Given the description of an element on the screen output the (x, y) to click on. 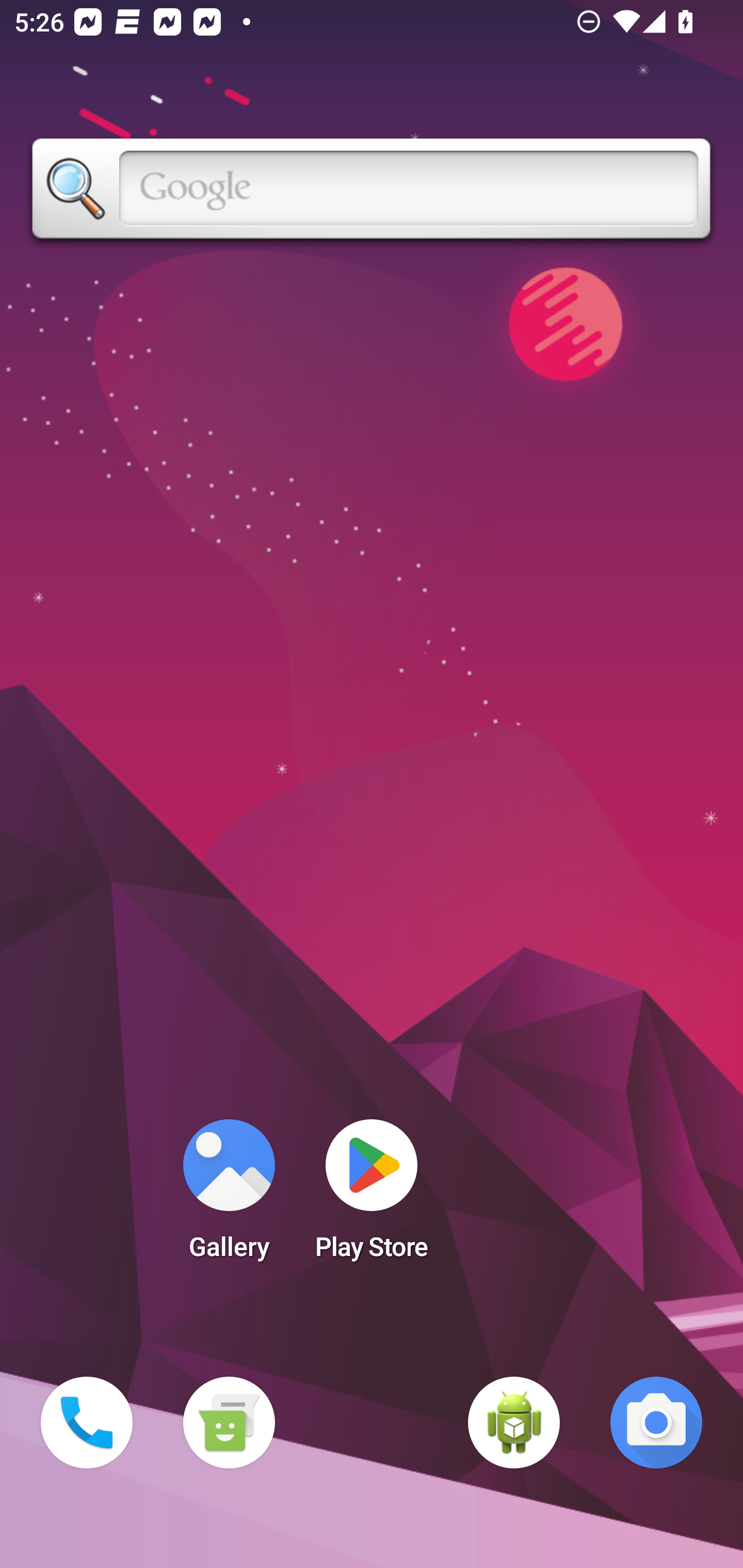
Gallery (228, 1195)
Play Store (371, 1195)
Phone (86, 1422)
Messaging (228, 1422)
WebView Browser Tester (513, 1422)
Camera (656, 1422)
